Given the description of an element on the screen output the (x, y) to click on. 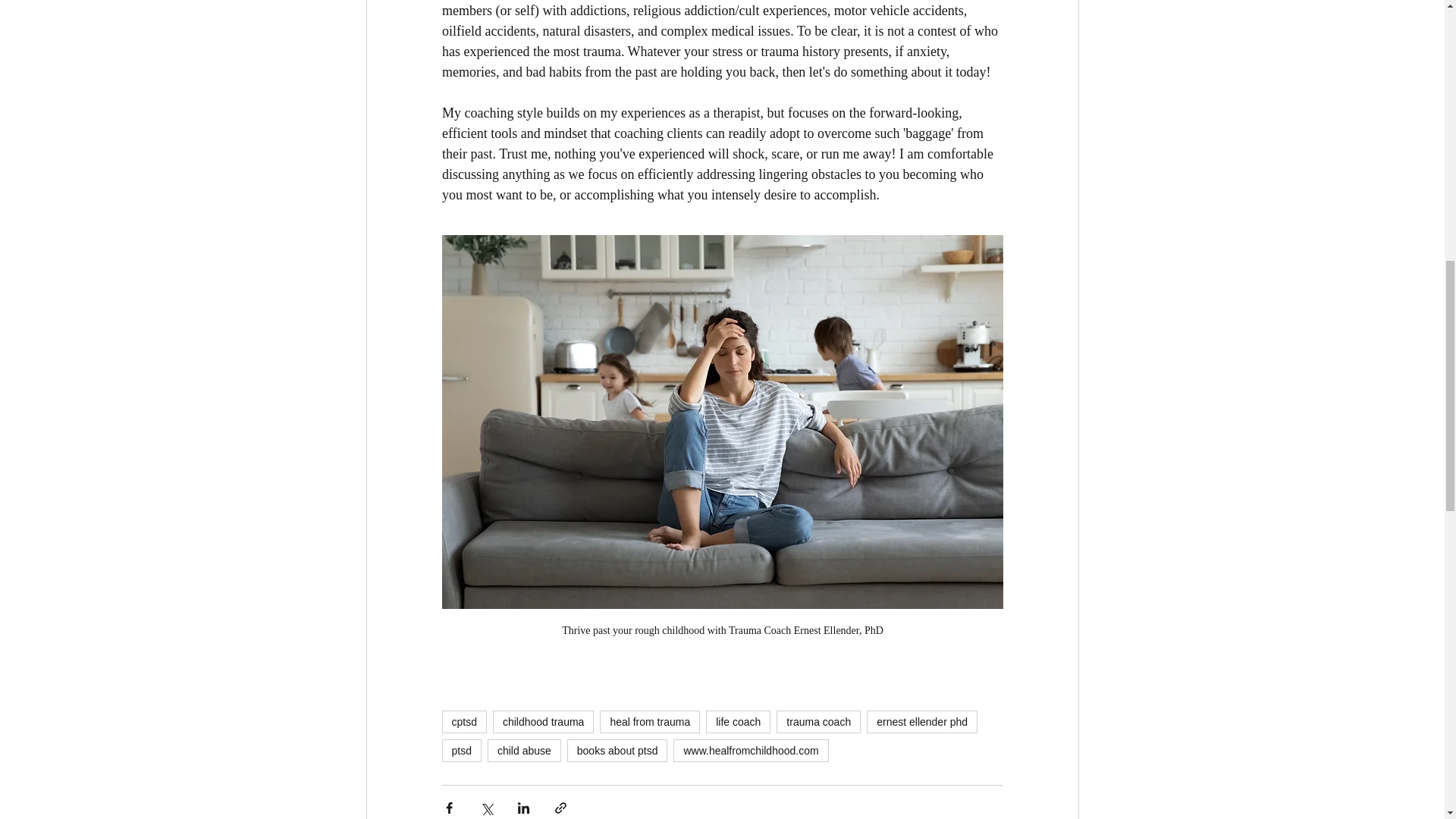
www.healfromchildhood.com (750, 750)
ptsd (460, 750)
child abuse (523, 750)
trauma coach (818, 721)
books about ptsd (617, 750)
heal from trauma (649, 721)
ernest ellender phd (921, 721)
cptsd (463, 721)
childhood trauma (543, 721)
